Given the description of an element on the screen output the (x, y) to click on. 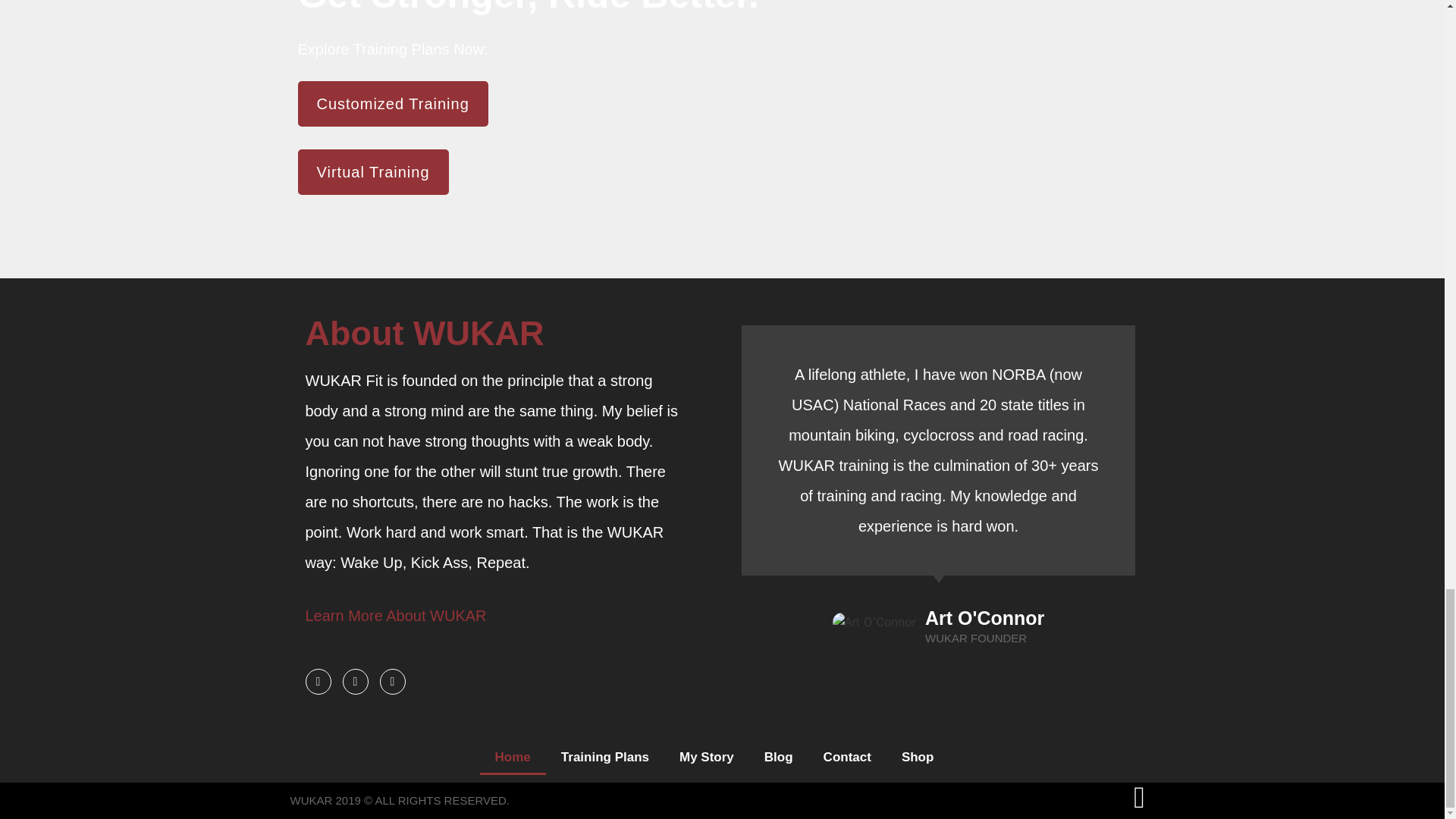
Contact (847, 757)
Customized Training (392, 103)
Virtual Training (372, 171)
Home (513, 757)
Learn More About (364, 615)
Blog (778, 757)
Training Plans (604, 757)
WUKAR (456, 615)
My Story (706, 757)
Shop (917, 757)
